Given the description of an element on the screen output the (x, y) to click on. 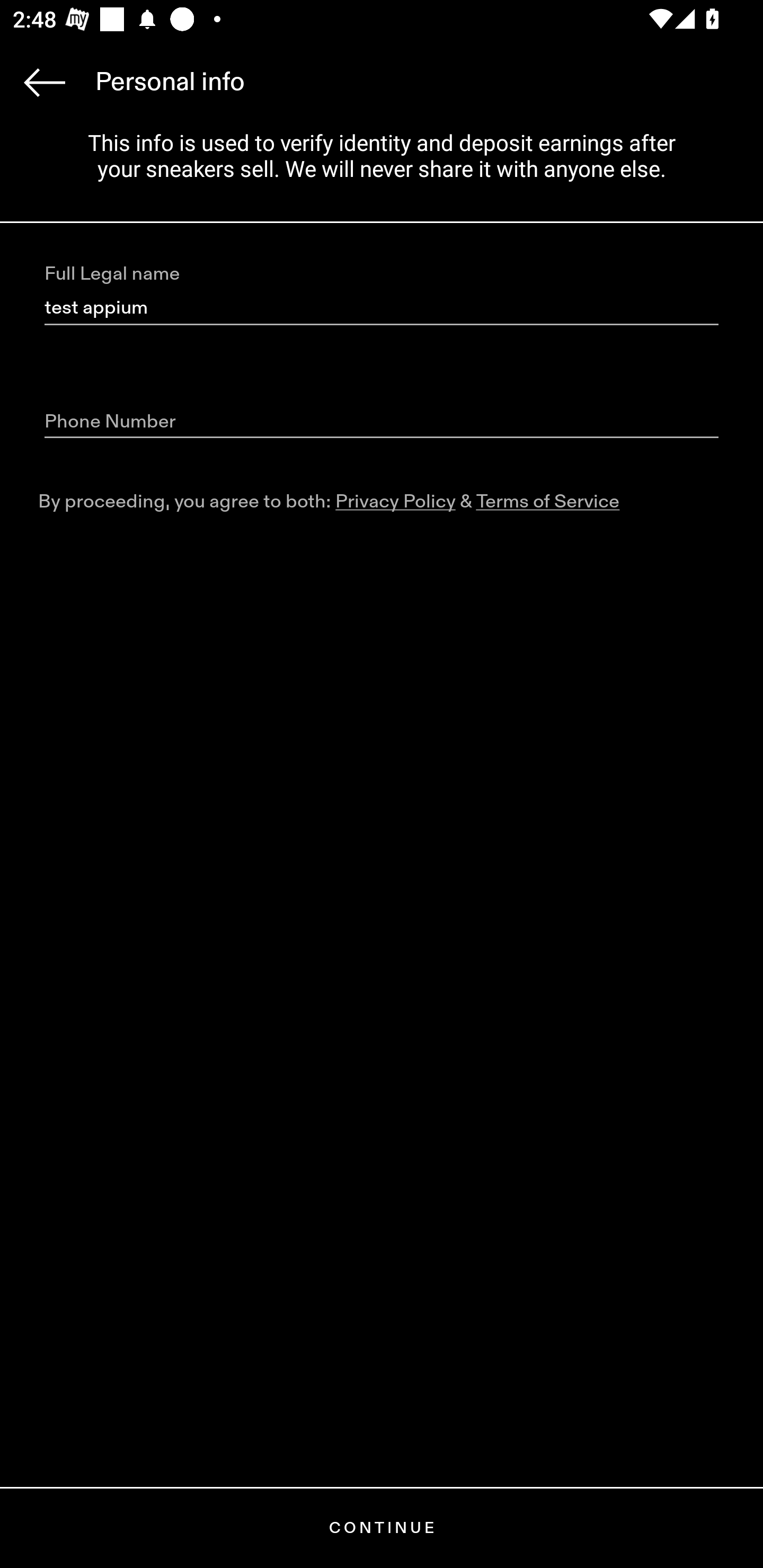
Navigate up (44, 82)
test appium (381, 308)
Phone Number (381, 422)
CONTINUE (381, 1528)
